Given the description of an element on the screen output the (x, y) to click on. 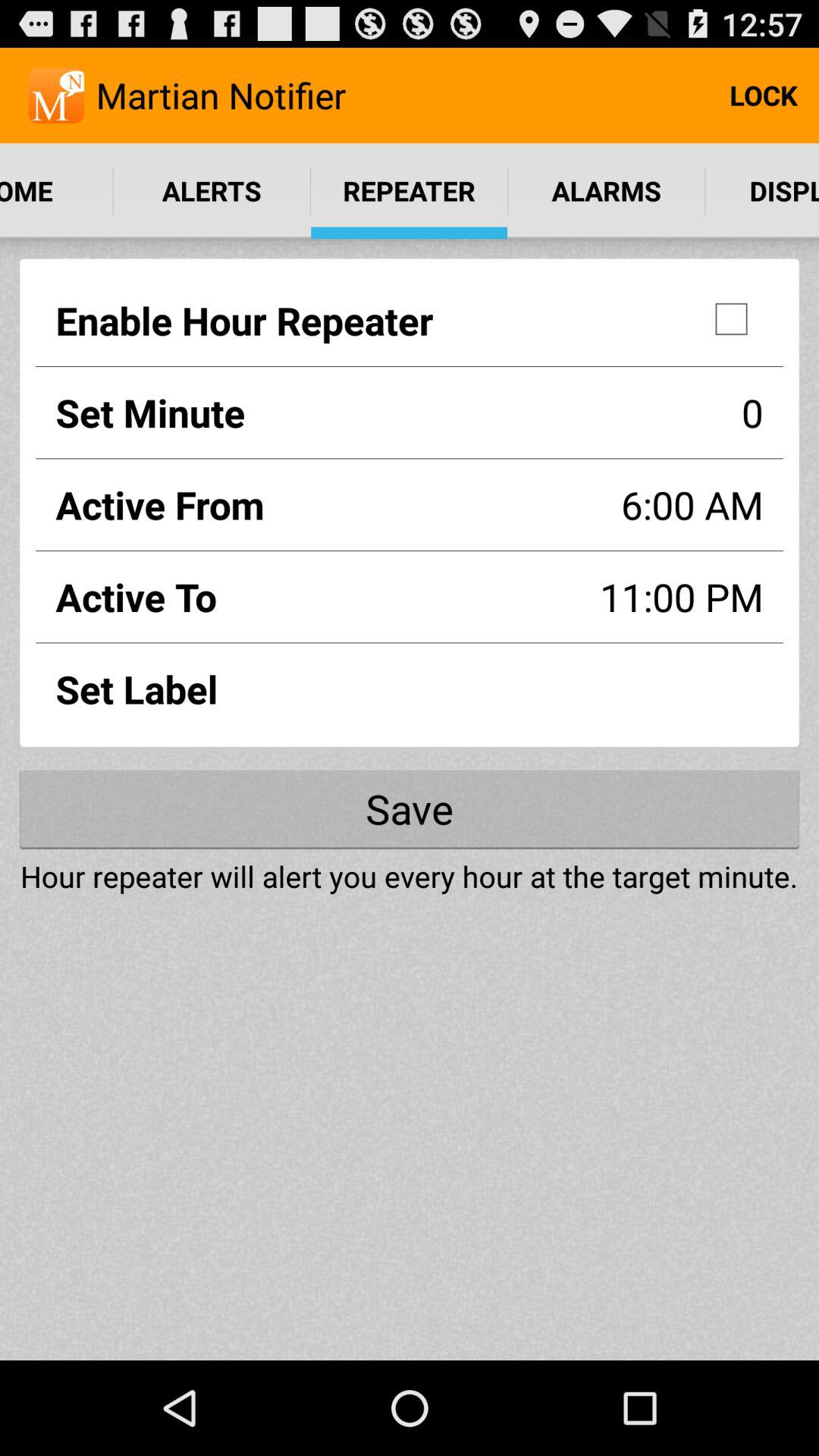
turn on app to the right of the martian notifier item (763, 95)
